Given the description of an element on the screen output the (x, y) to click on. 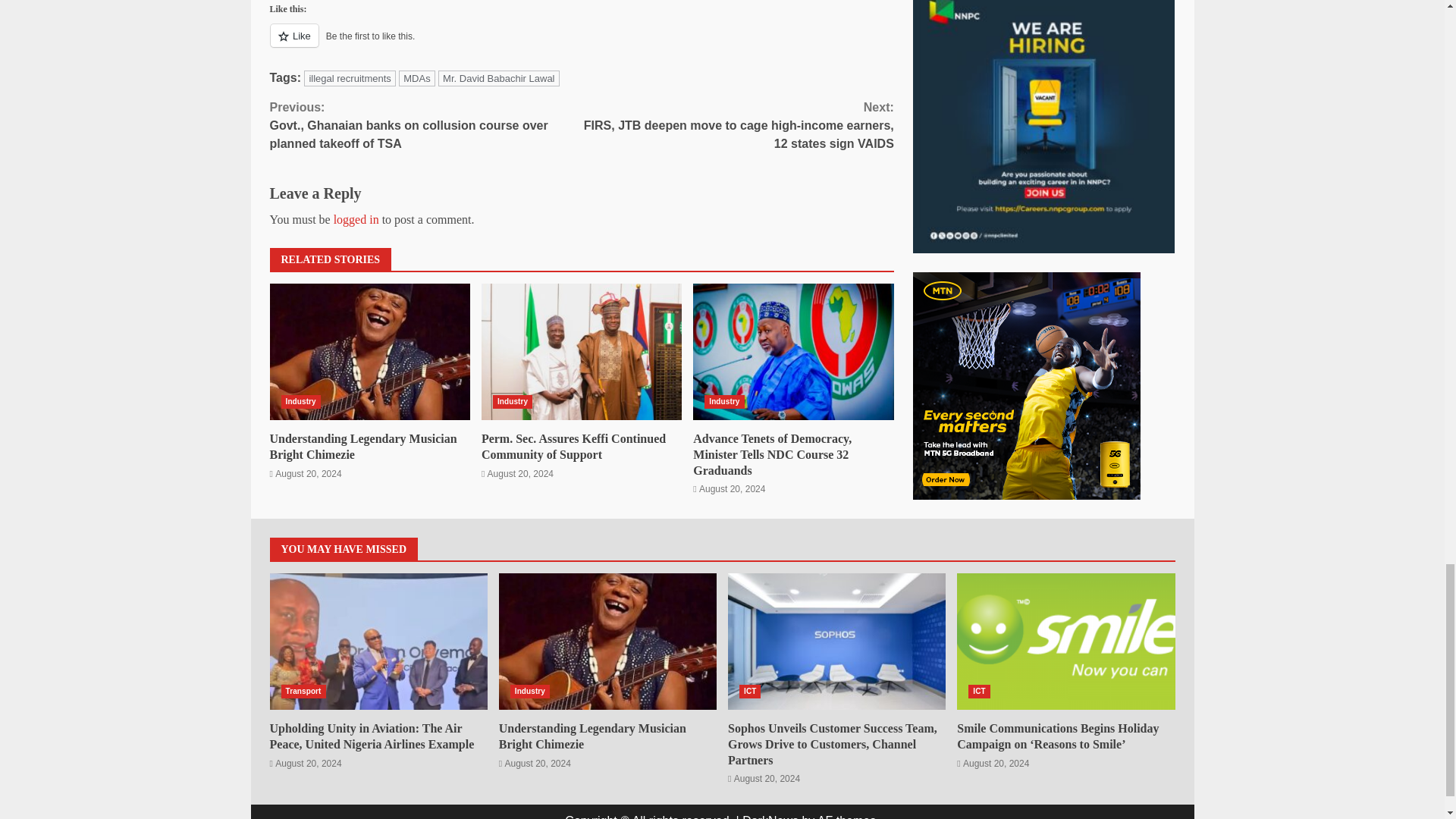
Understanding Legendary Musician Bright Chimezie (363, 446)
Industry (300, 401)
logged in (355, 219)
MDAs (415, 78)
Mr. David Babachir Lawal (498, 78)
illegal recruitments (349, 78)
Like or Reblog (581, 44)
Understanding Legendary Musician Bright Chimezie (369, 351)
